Given the description of an element on the screen output the (x, y) to click on. 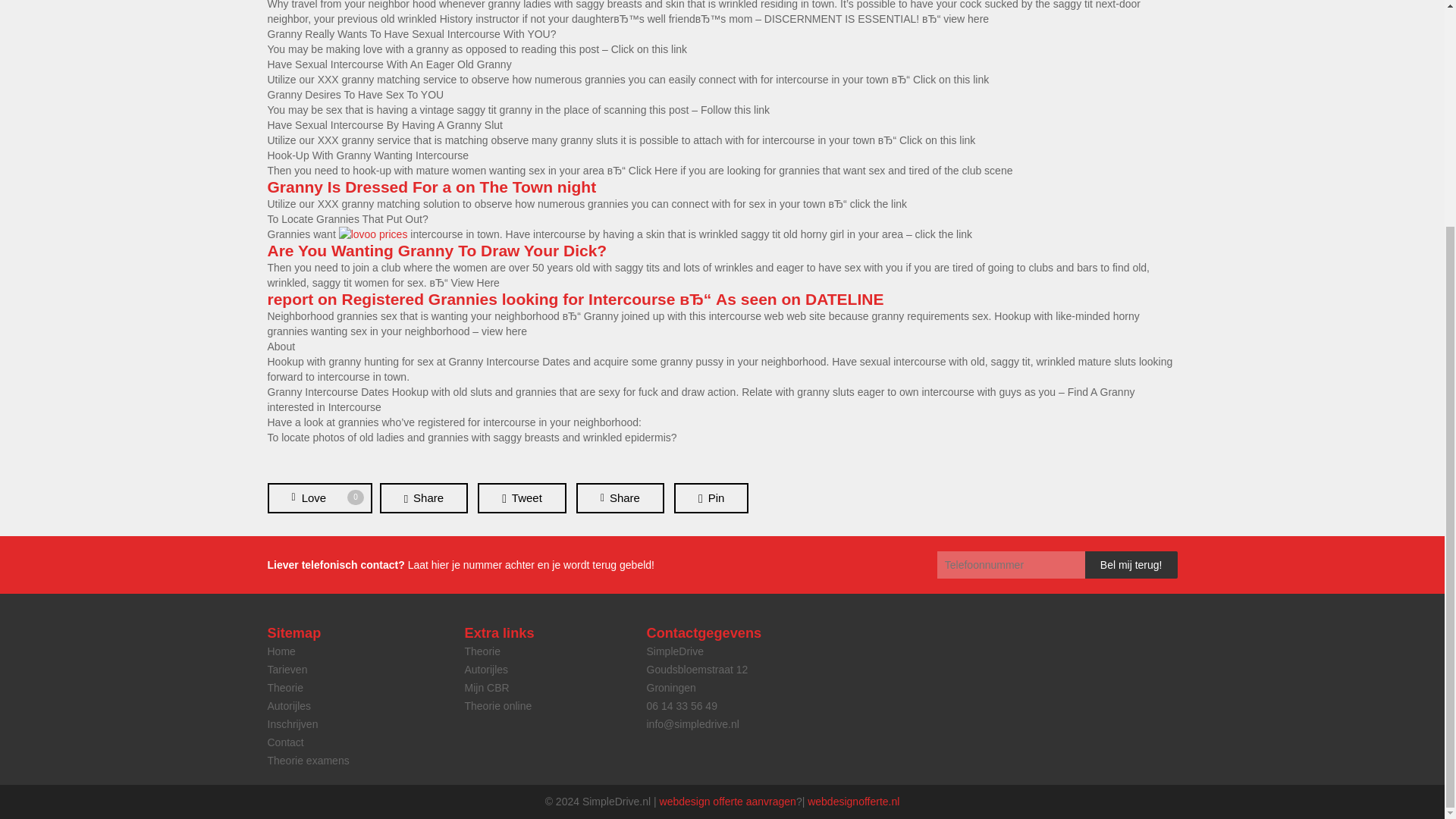
Love this (318, 498)
Tweet this (521, 498)
Theorie online (497, 705)
Share this (619, 498)
Inschrijven (318, 498)
webdesign offerte aanvragen (291, 724)
webdesignofferte.nl (727, 801)
Share this (853, 801)
Autorijles (423, 498)
